Given the description of an element on the screen output the (x, y) to click on. 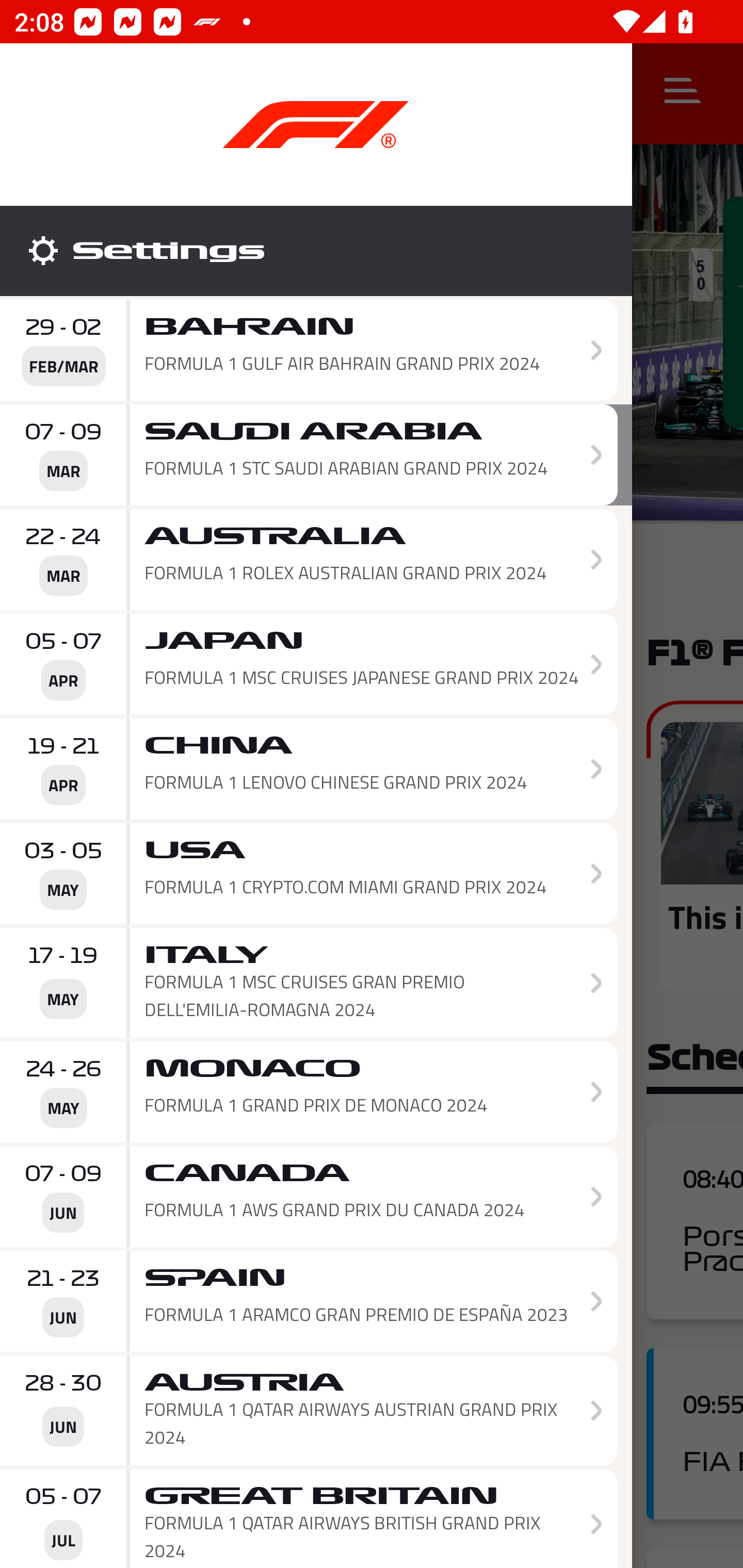
Settings (316, 250)
